Given the description of an element on the screen output the (x, y) to click on. 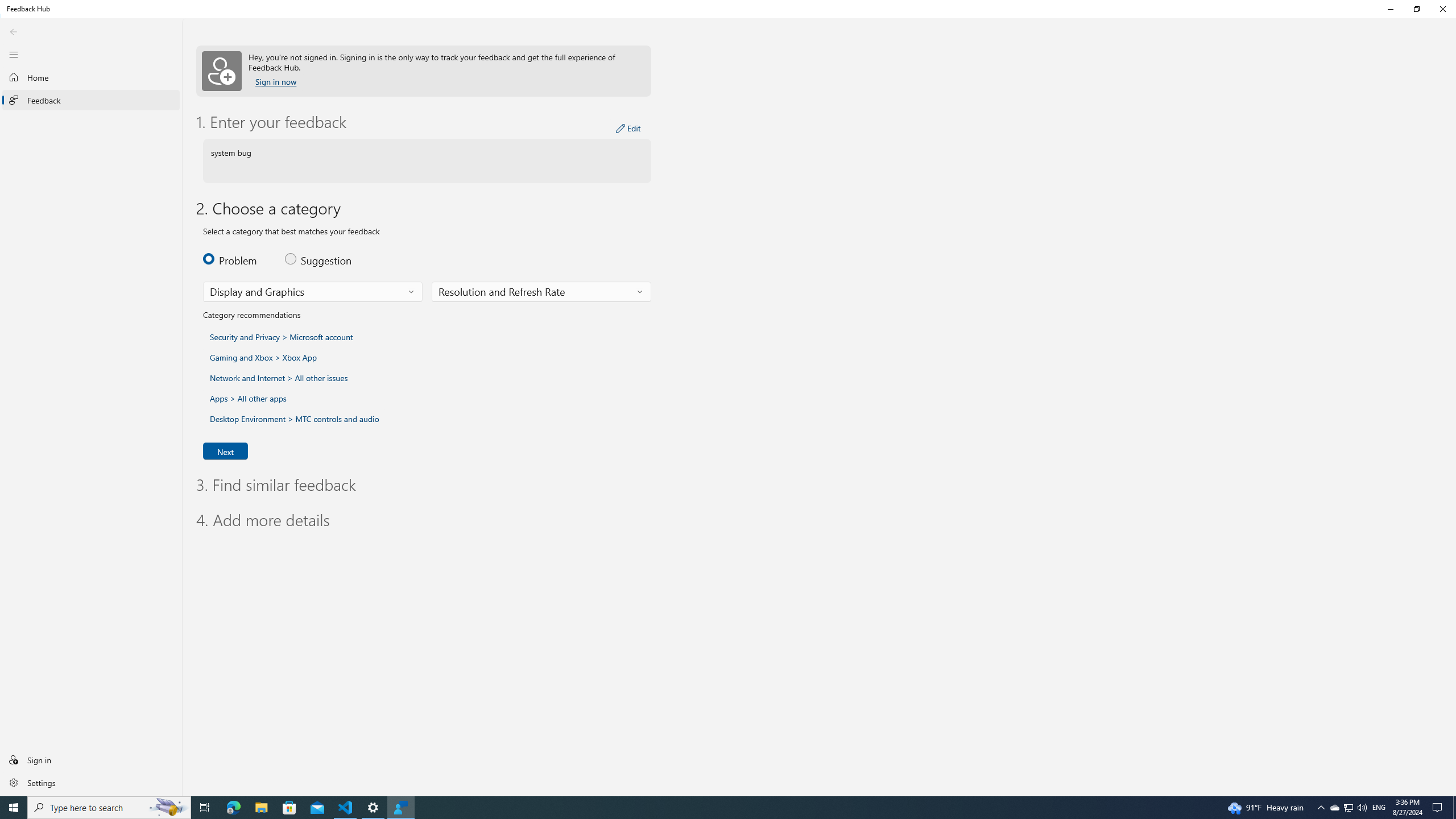
Visual Studio Code - 1 running window (1347, 807)
Action Center, No new notifications (345, 807)
Tray Input Indicator - English (United States) (1439, 807)
Task View (1378, 807)
Feedback type, Problem (204, 807)
Feedback Hub - 1 running window (236, 258)
Vertical Small Increase (400, 807)
Search highlights icon opens search home window (1452, 792)
Settings (167, 807)
Settings - 1 running window (90, 782)
Notification Chevron (373, 807)
Display and Graphics (1320, 807)
